Given the description of an element on the screen output the (x, y) to click on. 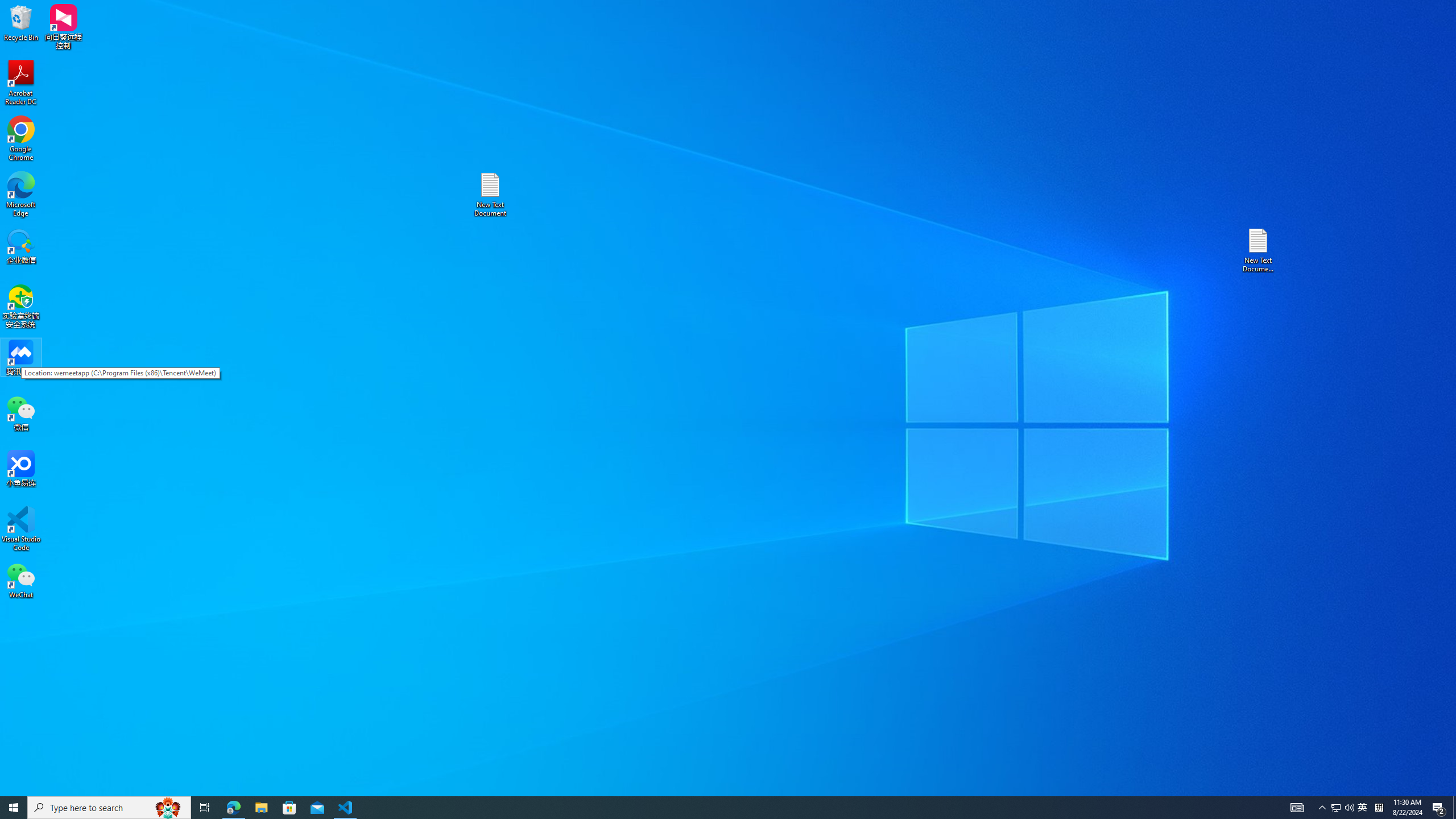
New Text Document (489, 194)
Visual Studio Code (21, 528)
WeChat (21, 580)
Microsoft Edge (21, 194)
Running applications (707, 807)
